Given the description of an element on the screen output the (x, y) to click on. 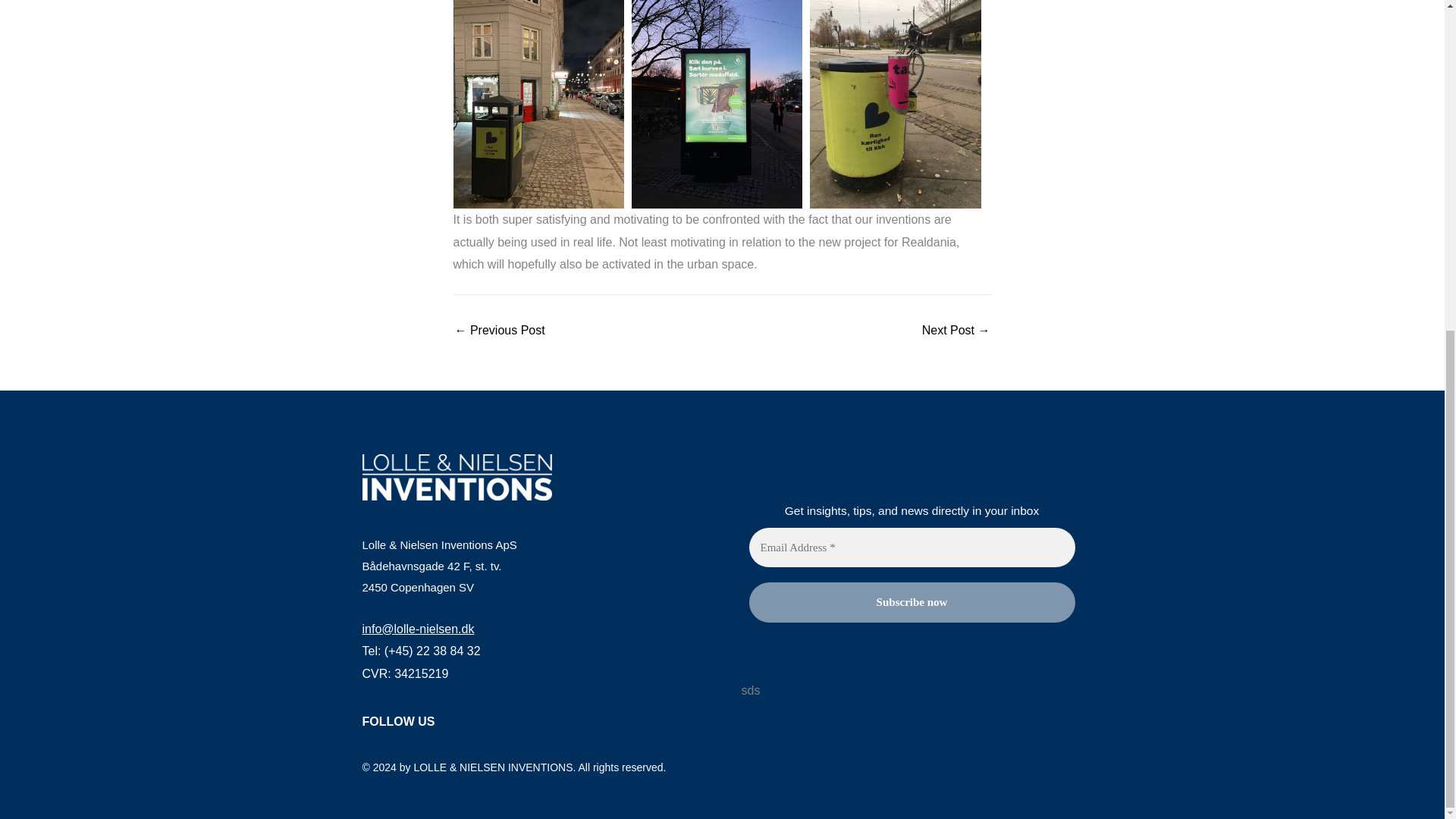
The complexity of developing modern solutions (499, 330)
1.4 million views: Upclimber video went viral on Facebook (955, 330)
Email Address (912, 547)
Subscribe now (912, 602)
Subscribe now (912, 602)
